Given the description of an element on the screen output the (x, y) to click on. 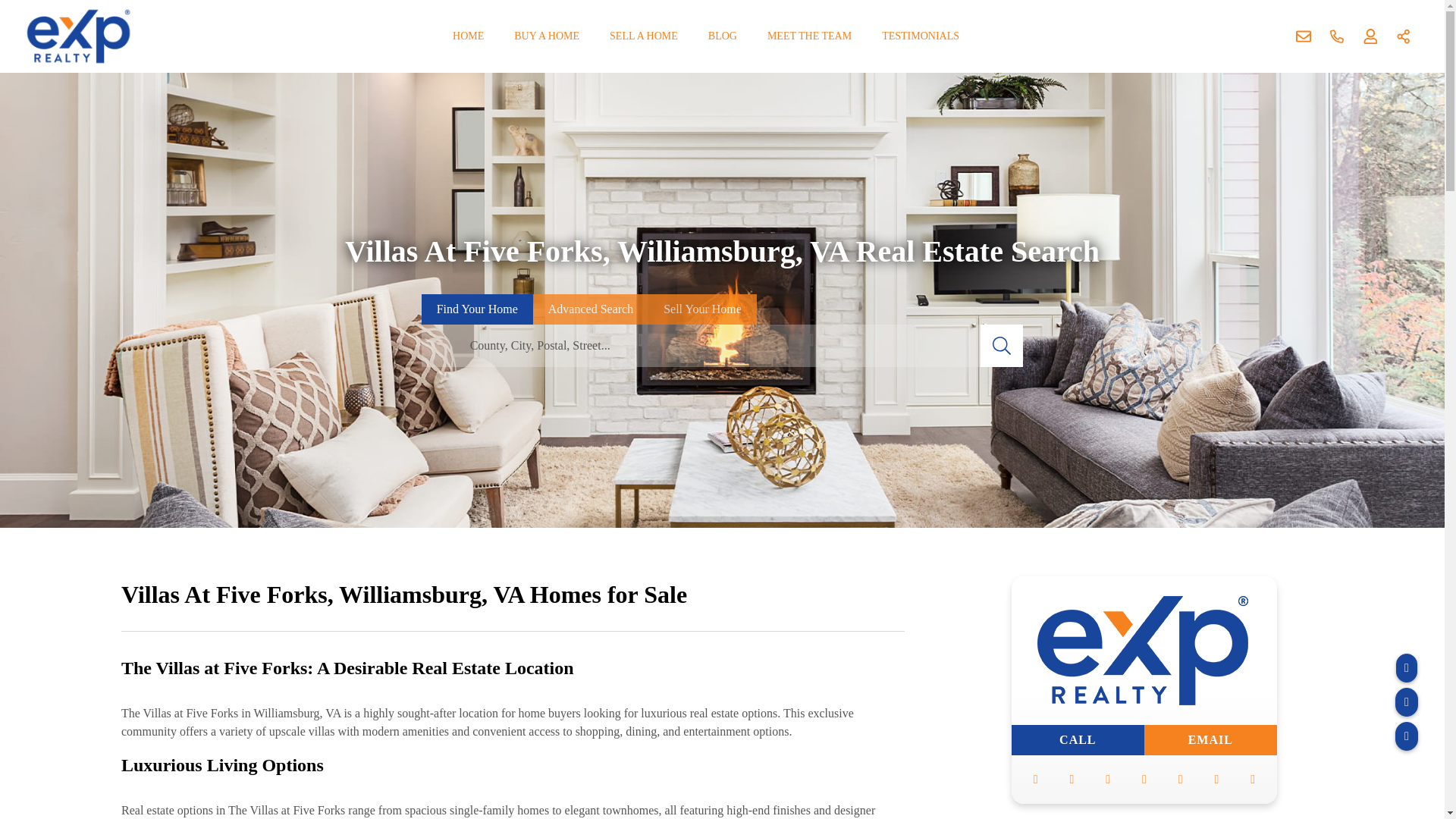
Call Now (1337, 36)
Contact Us (1303, 36)
MEET THE TEAM (809, 36)
Phone number (1337, 36)
Sign up or Sign in (1370, 36)
BUY A HOME (546, 36)
TESTIMONIALS (920, 36)
Contact us (1303, 36)
Share (1404, 36)
Sign In (1370, 36)
SELL A HOME (643, 36)
Share (1404, 36)
